Given the description of an element on the screen output the (x, y) to click on. 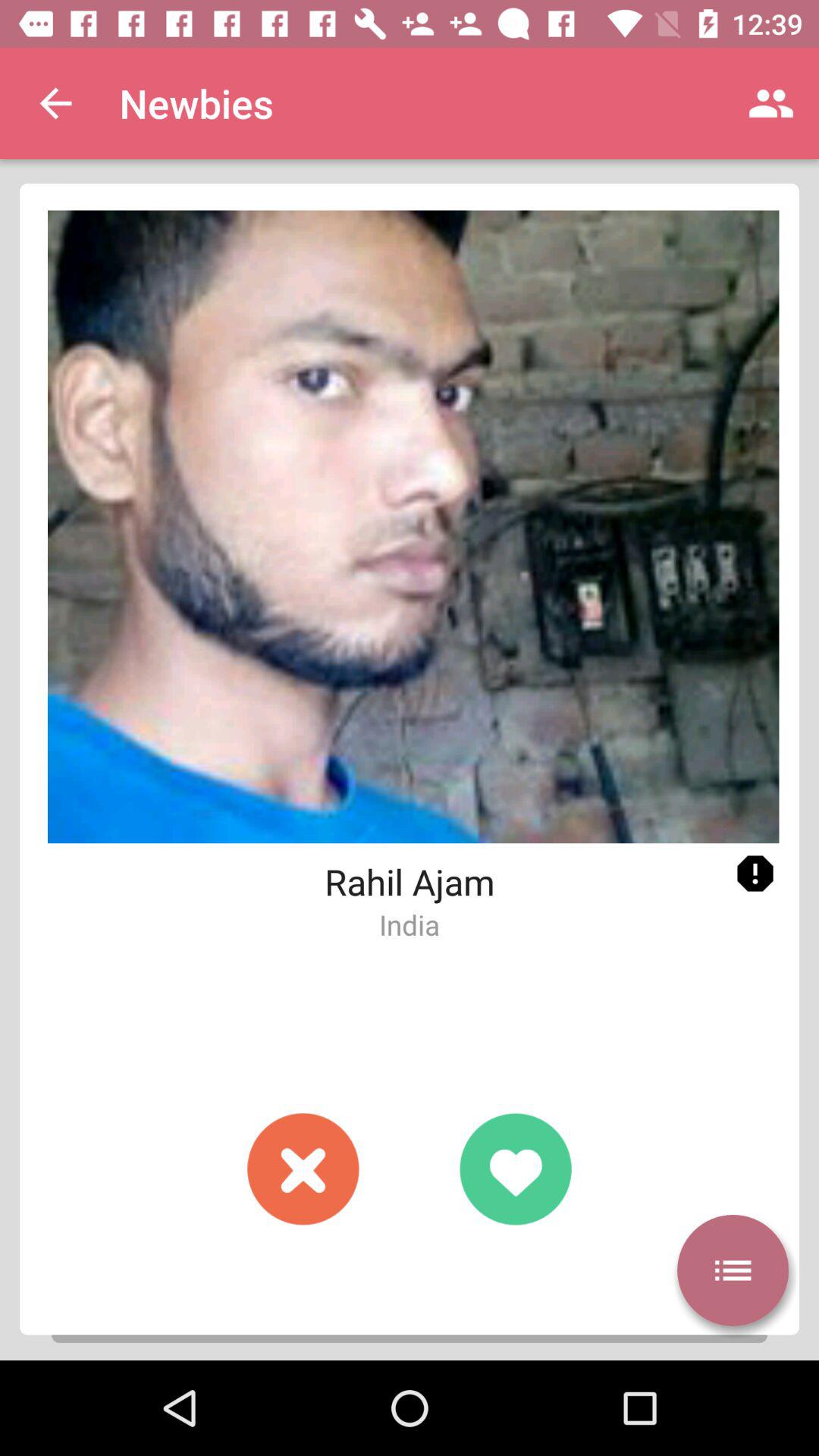
favourite person (515, 1169)
